Given the description of an element on the screen output the (x, y) to click on. 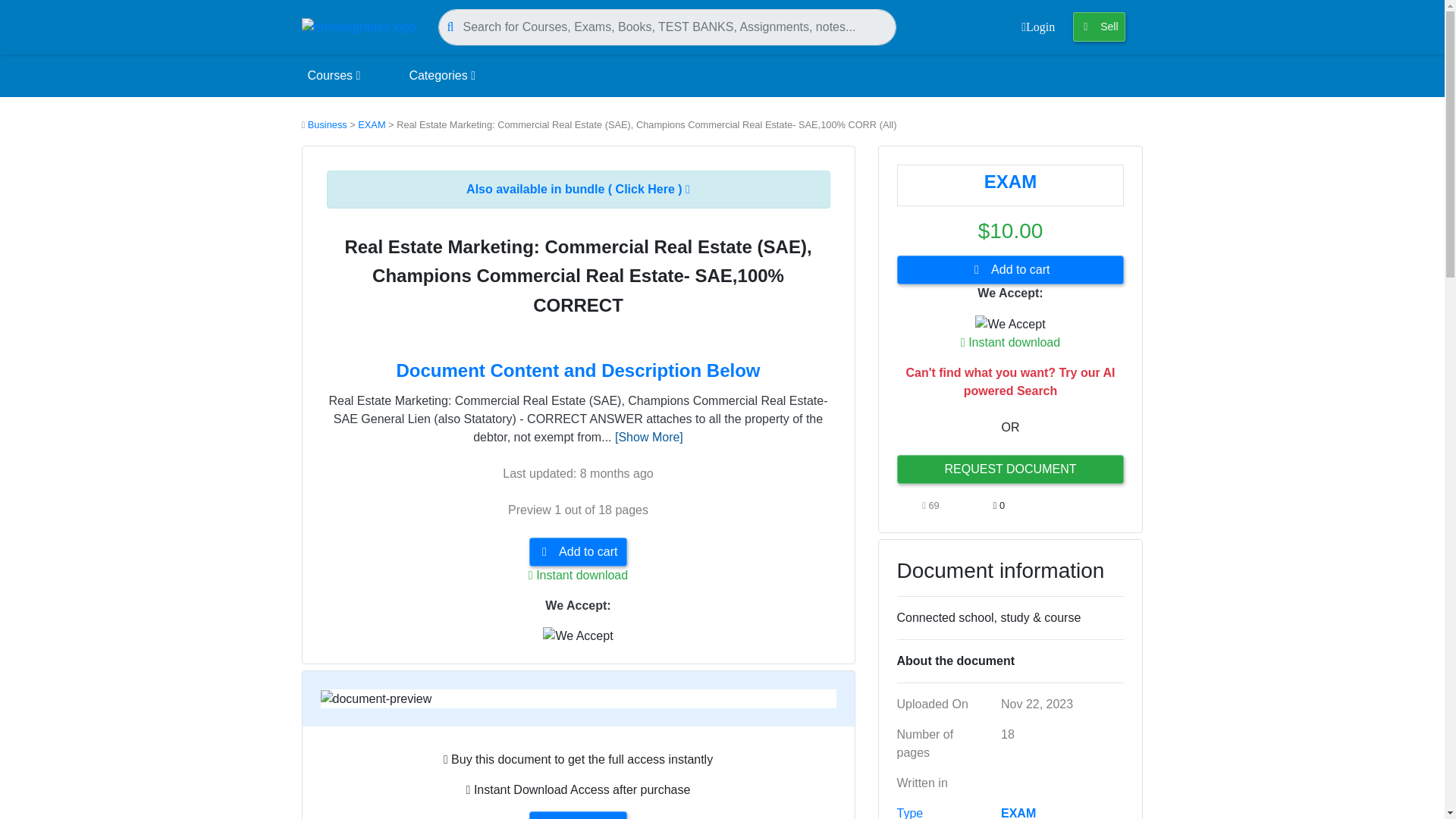
Sell (1098, 26)
Courses (333, 75)
Login (1037, 27)
Categories (442, 75)
